Given the description of an element on the screen output the (x, y) to click on. 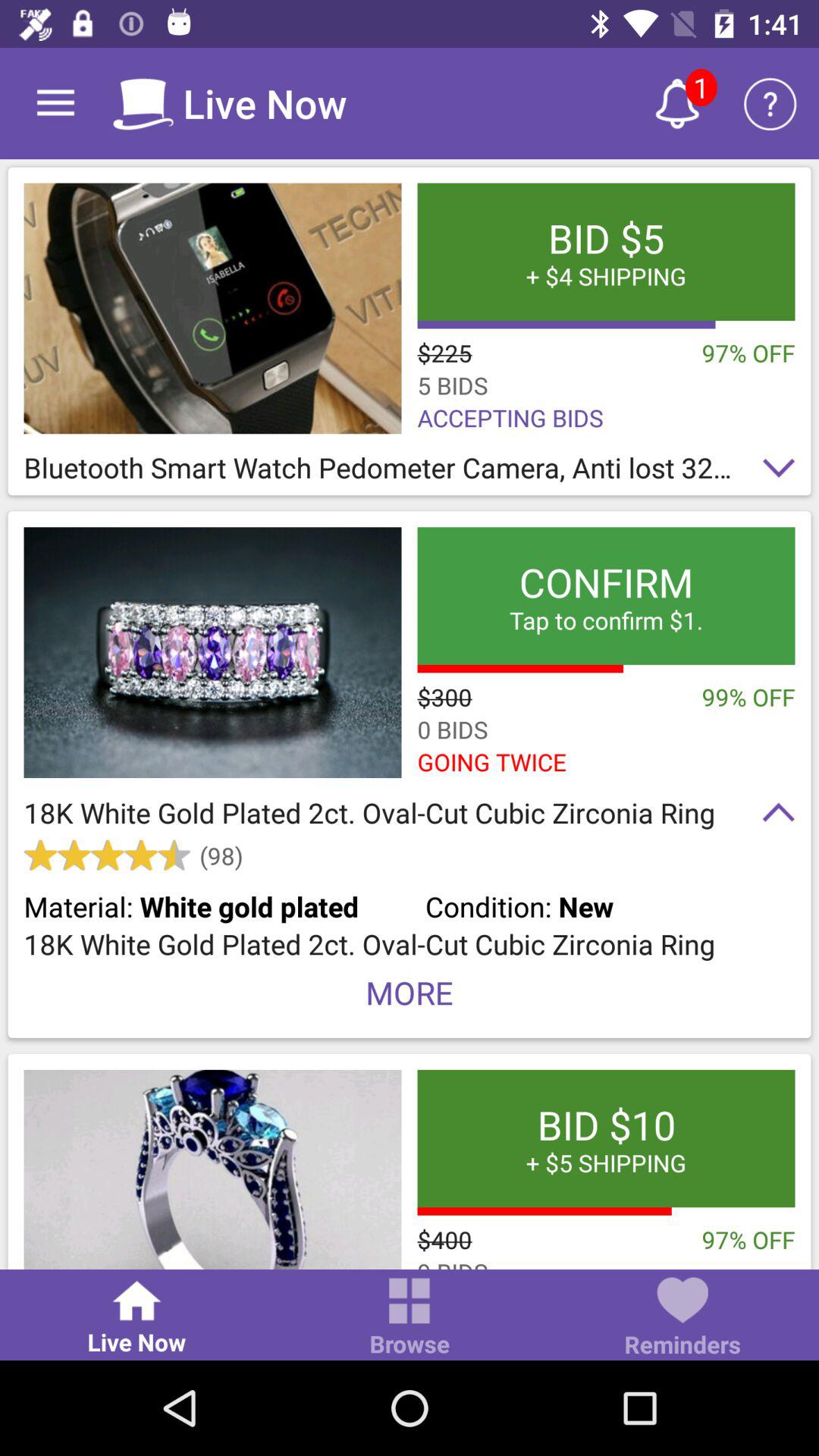
new alert (677, 103)
